Given the description of an element on the screen output the (x, y) to click on. 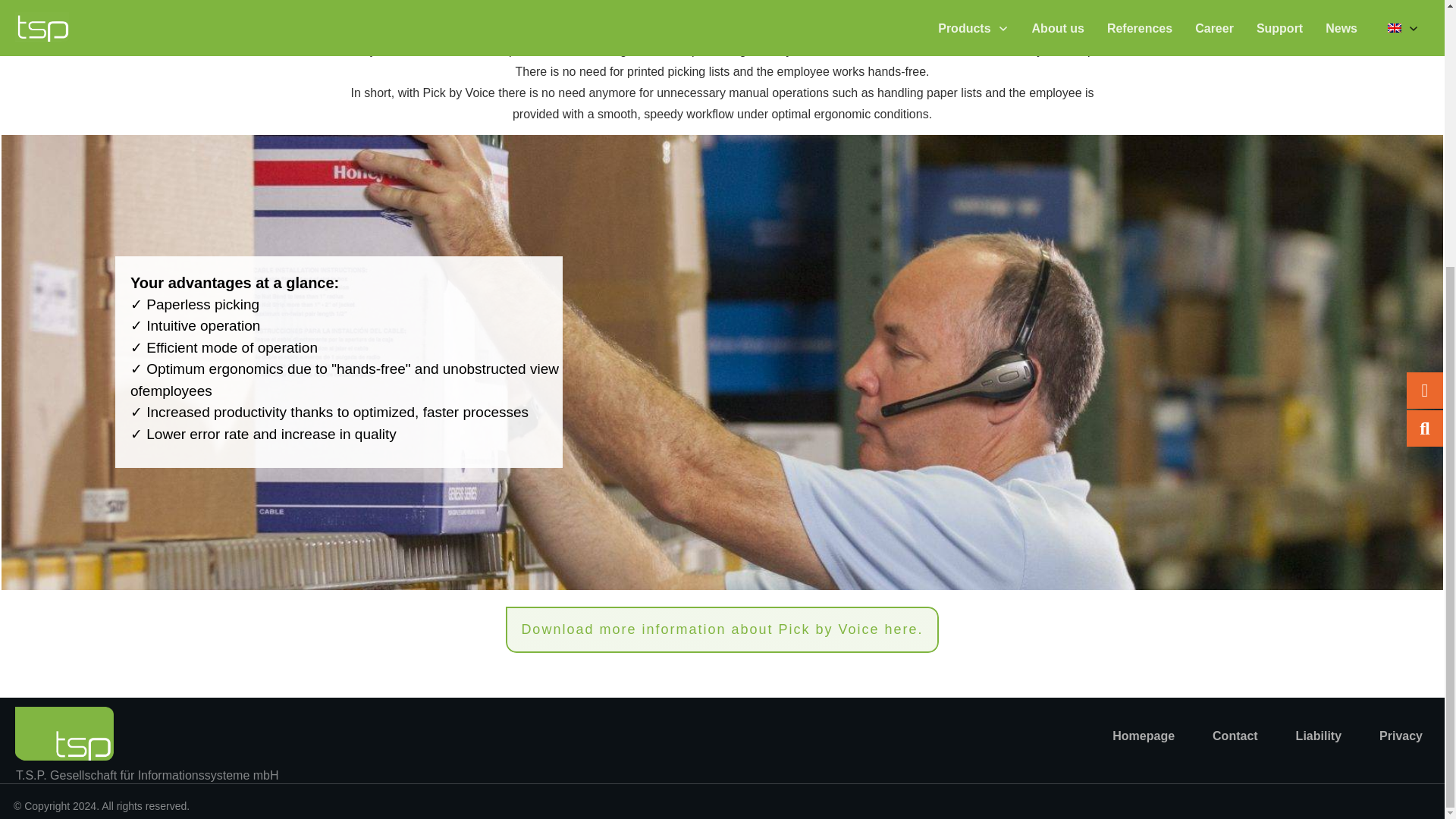
Liability (1317, 735)
Download more information about Pick by Voice here. (721, 629)
Homepage (1143, 735)
Privacy (1400, 735)
Contact (1234, 735)
